Given the description of an element on the screen output the (x, y) to click on. 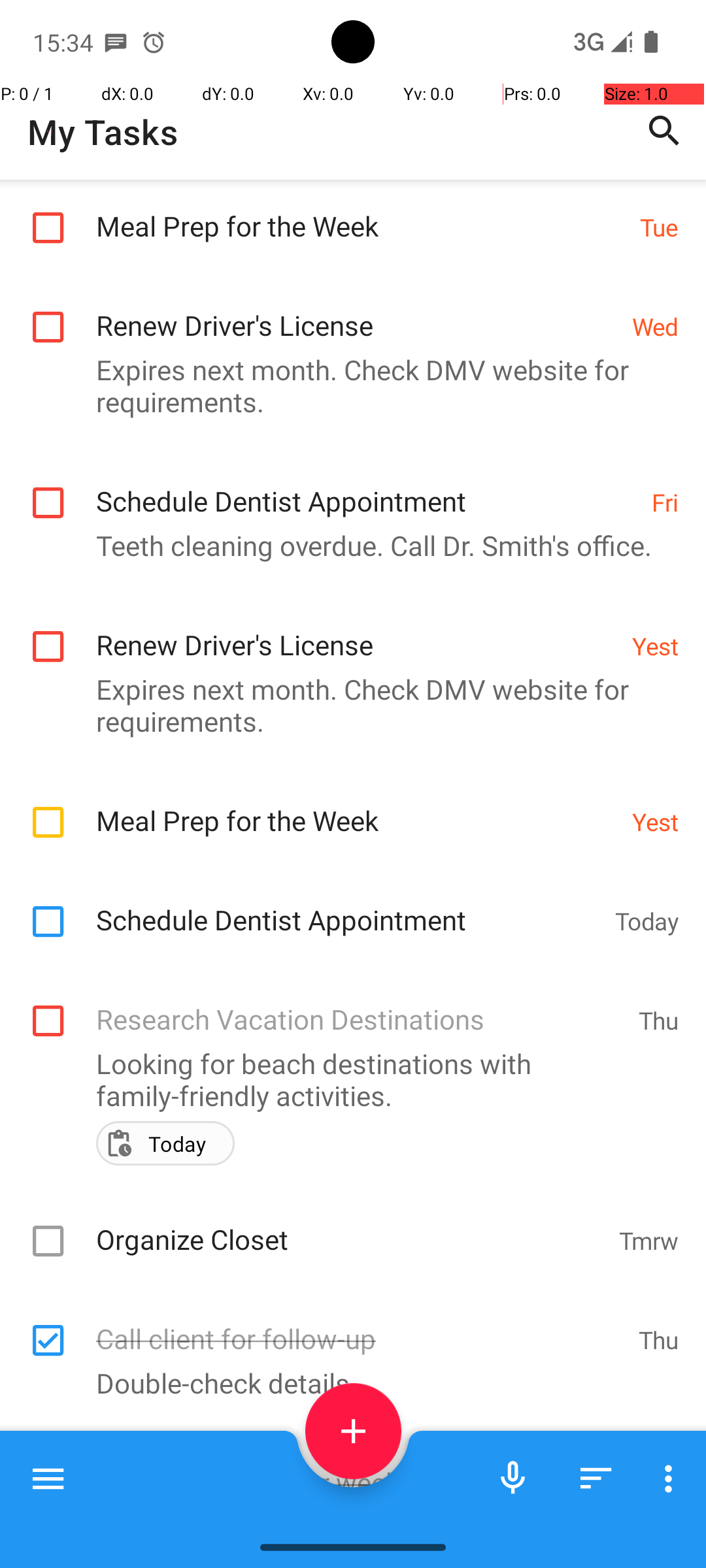
Call client for follow-up Element type: android.widget.TextView (360, 1324)
Double-check details. Element type: android.widget.TextView (346, 1382)
Prepare agenda for weekly meeting Element type: android.widget.TextView (360, 1468)
Complete survey. Element type: android.widget.TextView (346, 1516)
